Given the description of an element on the screen output the (x, y) to click on. 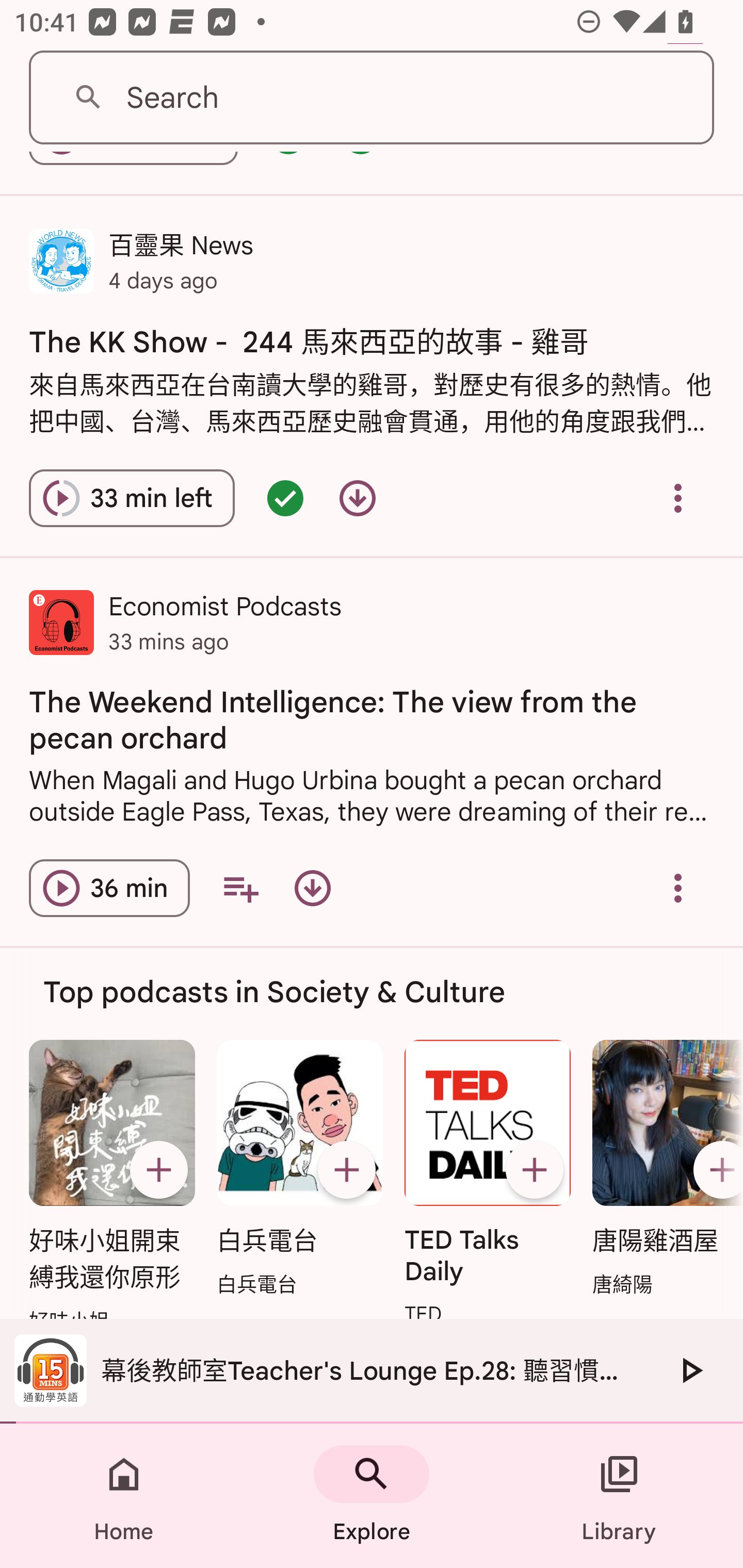
Search (371, 97)
Episode queued - double tap for options (284, 497)
Download episode (357, 497)
Overflow menu (677, 497)
Add to your queue (240, 888)
Download episode (312, 888)
Overflow menu (677, 888)
好味小姐開束縛我還你原形 Subscribe 好味小姐開束縛我還你原形 好味小姐 (111, 1187)
白兵電台 Subscribe 白兵電台 白兵電台 (299, 1169)
TED Talks Daily Subscribe TED Talks Daily TED (487, 1183)
唐陽雞酒屋 Subscribe 唐陽雞酒屋 唐綺陽 (662, 1169)
Subscribe (158, 1169)
Subscribe (346, 1169)
Subscribe (534, 1169)
Subscribe (714, 1169)
Play (690, 1370)
Home (123, 1495)
Library (619, 1495)
